Given the description of an element on the screen output the (x, y) to click on. 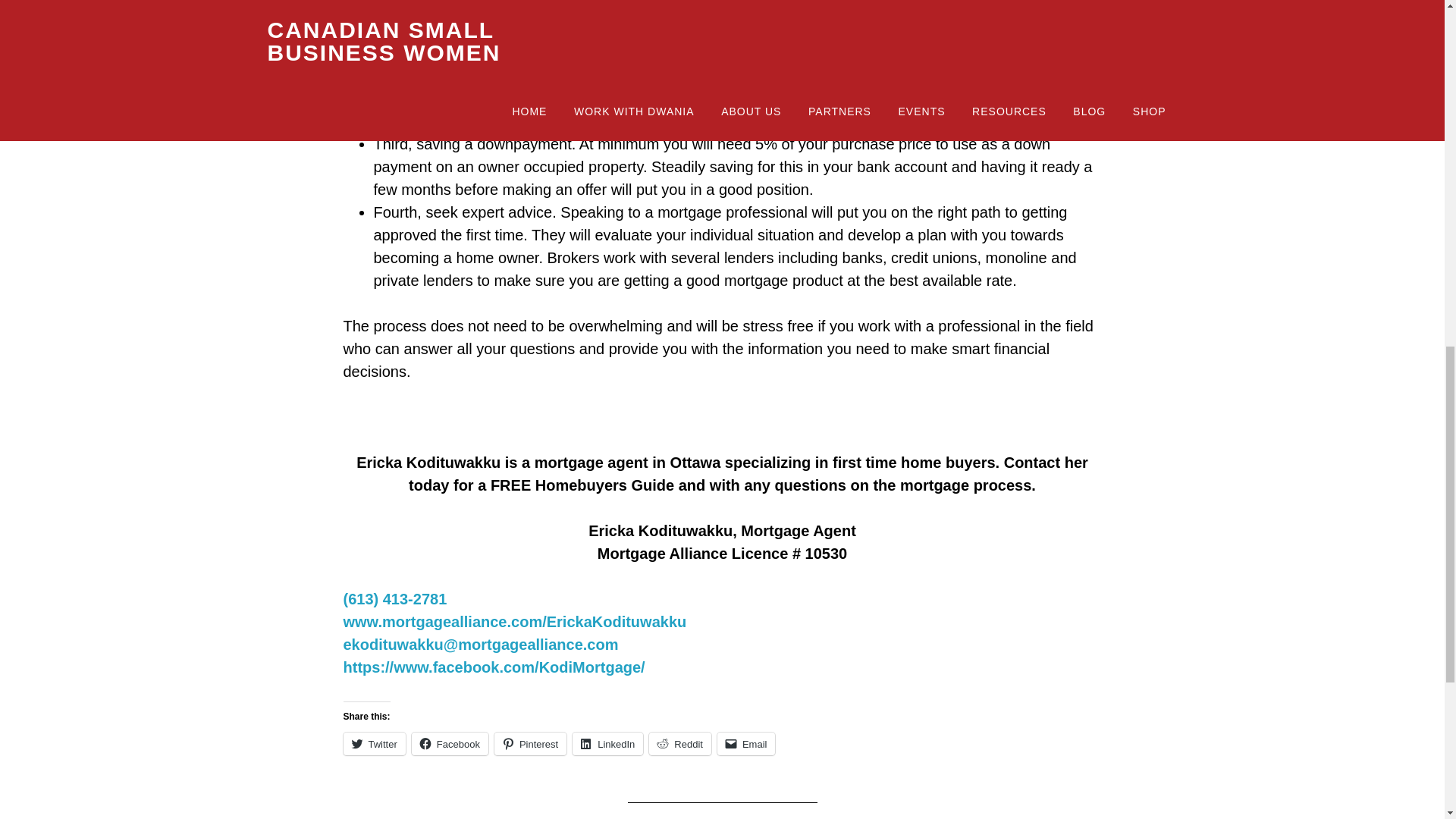
Click to email a link to a friend (746, 743)
LinkedIn (607, 743)
Pinterest (530, 743)
Click to share on Facebook (449, 743)
Click to share on Pinterest (530, 743)
Facebook (449, 743)
Reddit (680, 743)
Click to share on Reddit (680, 743)
Click to share on Twitter (373, 743)
Email (746, 743)
Click to share on LinkedIn (607, 743)
Twitter (373, 743)
